Given the description of an element on the screen output the (x, y) to click on. 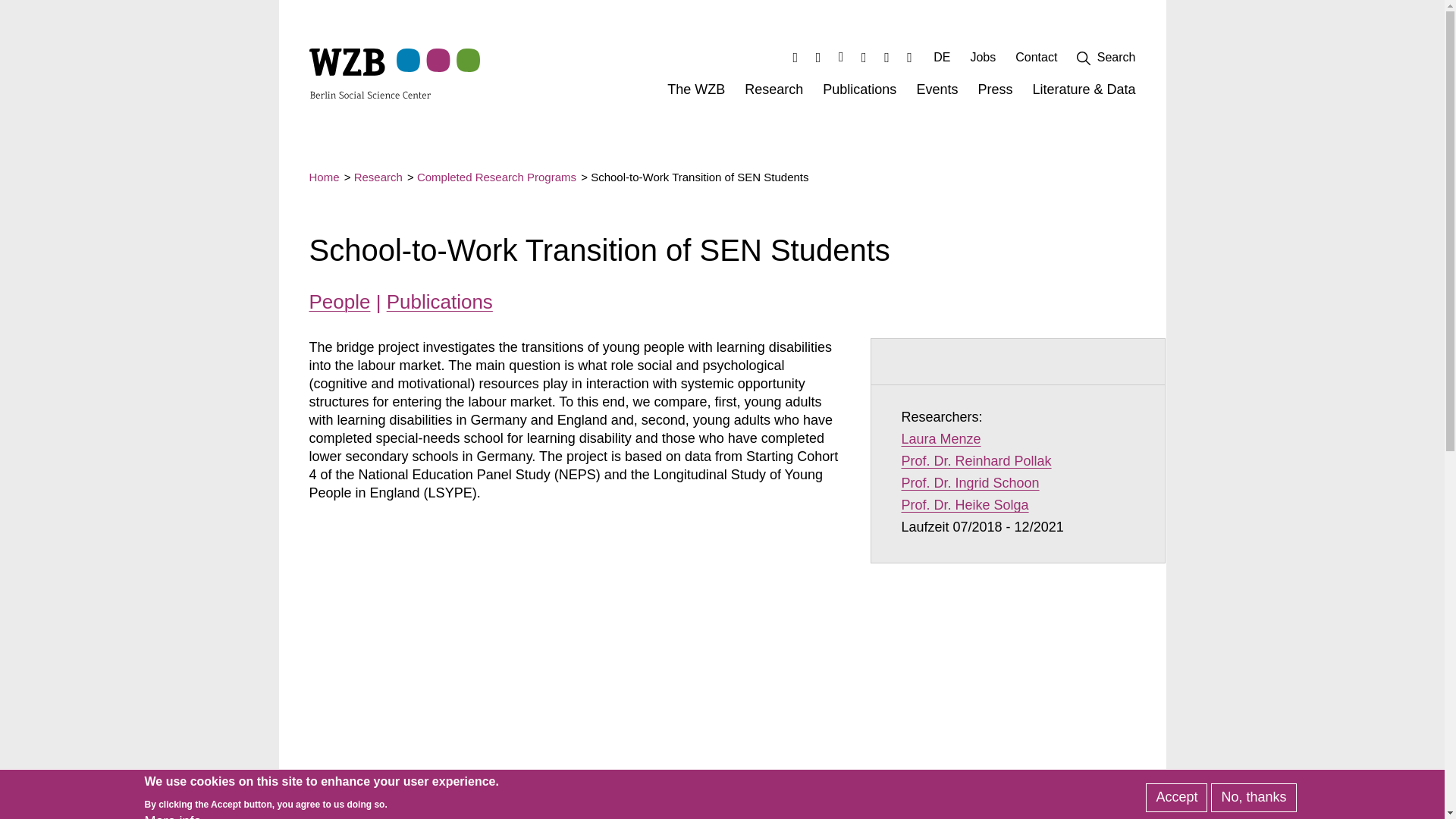
Skip to main content (773, 93)
X-Twitter (864, 56)
Instagram (818, 56)
The WZB on Youtube (841, 56)
Sign Language (864, 56)
Simple Language (909, 56)
To homepage (886, 56)
